Given the description of an element on the screen output the (x, y) to click on. 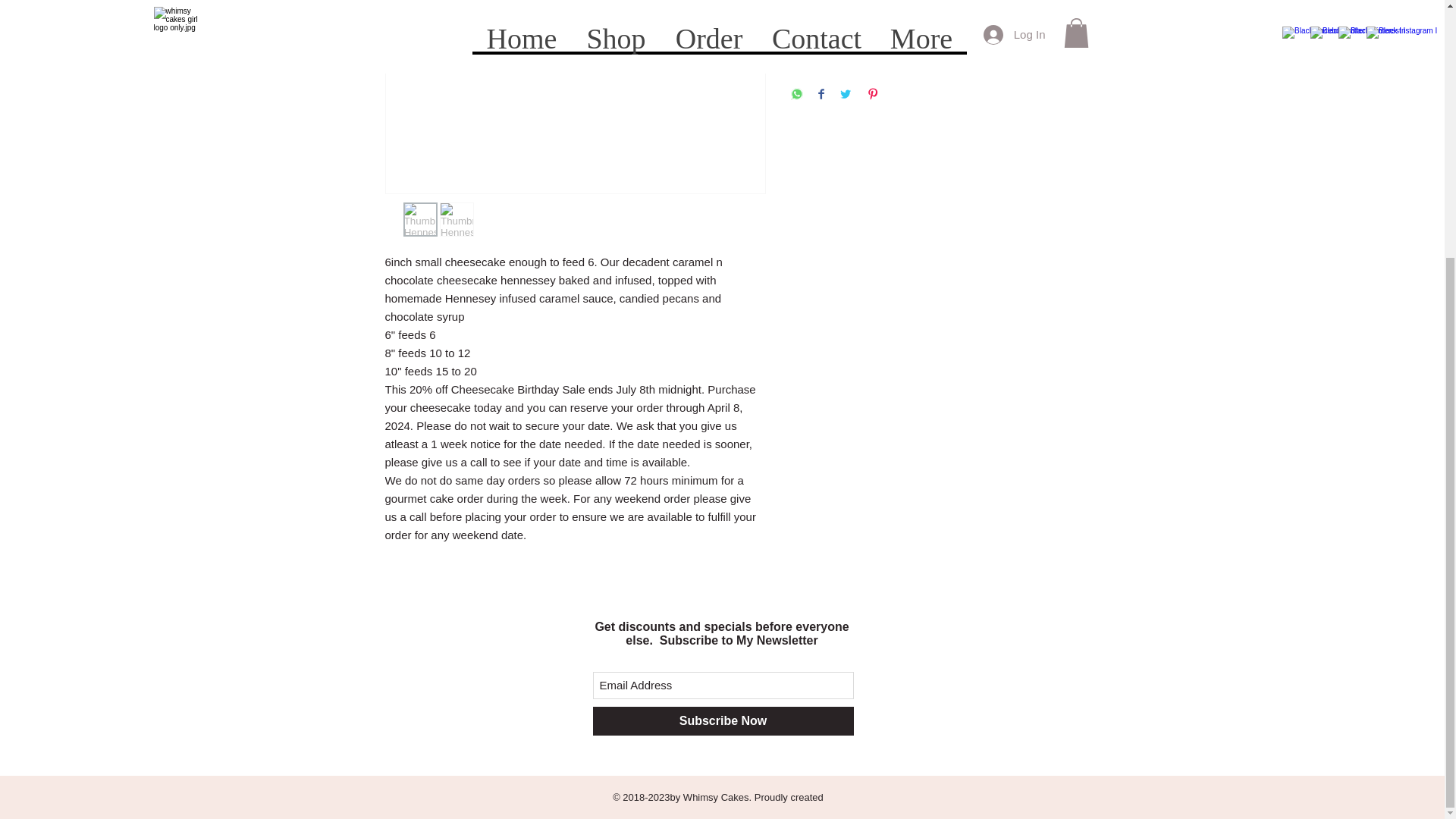
Subscribe Now (722, 720)
Add to Cart (924, 39)
